Given the description of an element on the screen output the (x, y) to click on. 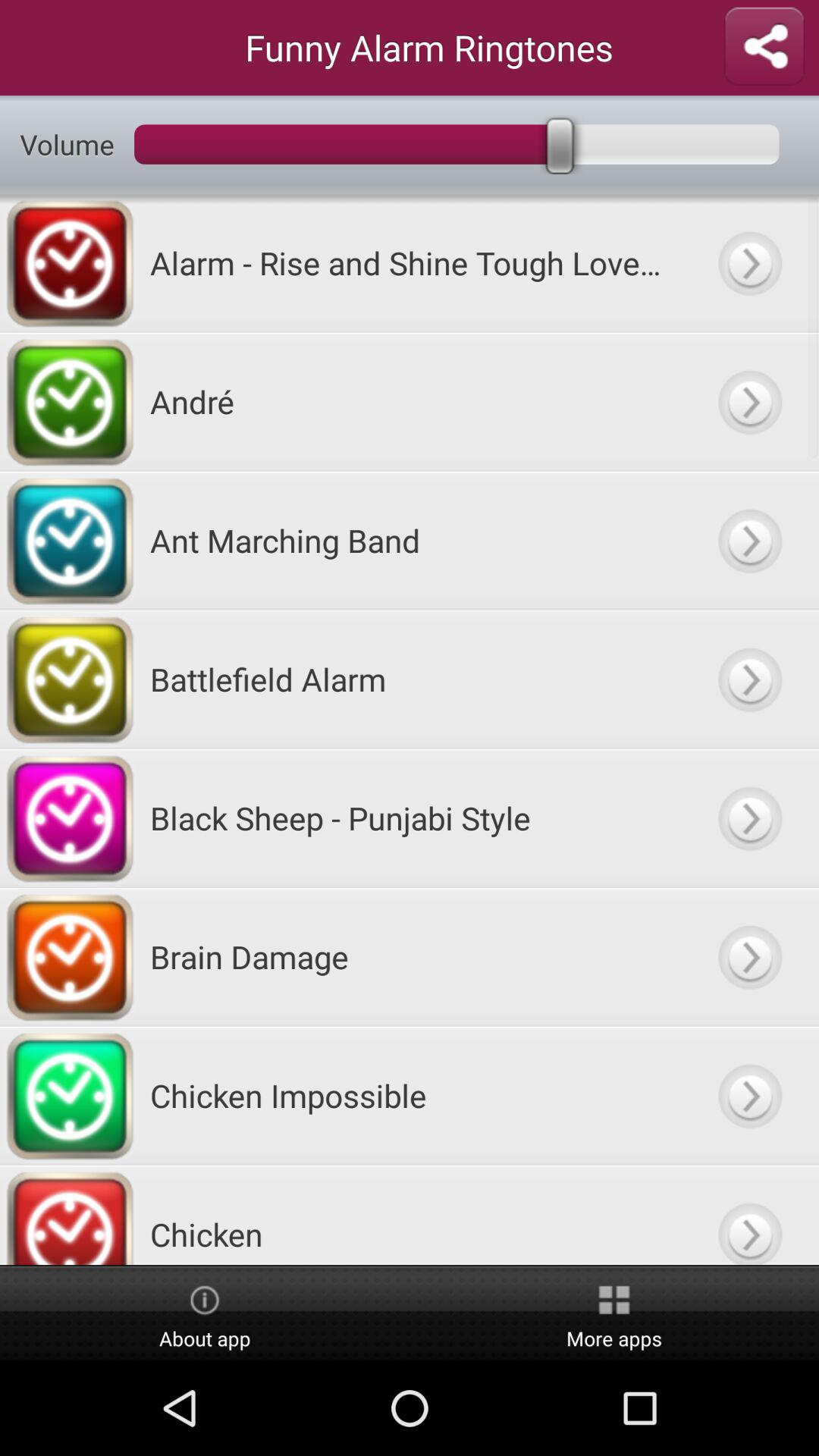
go to next (749, 956)
